Given the description of an element on the screen output the (x, y) to click on. 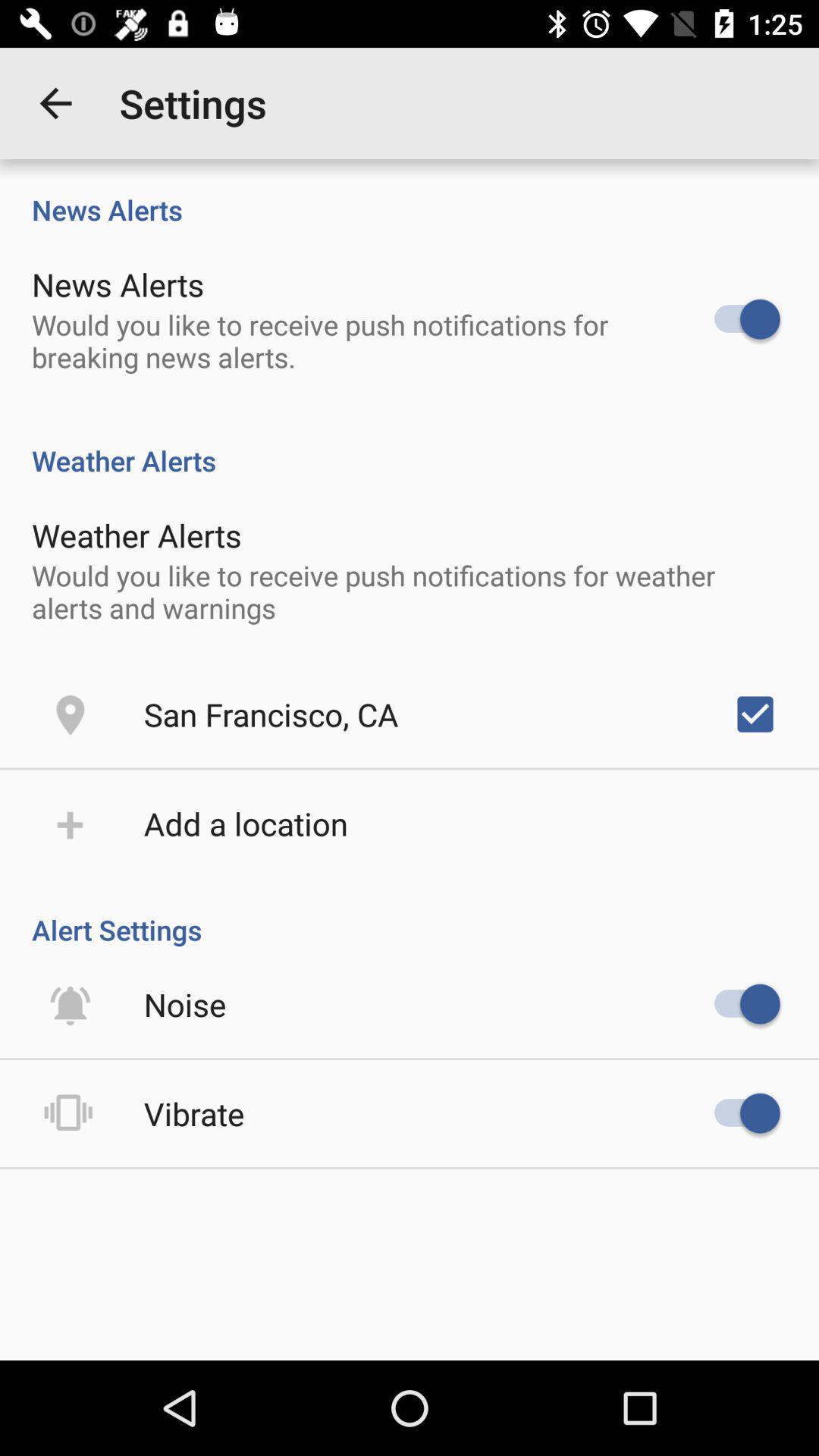
open the icon to the right of the san francisco, ca icon (755, 714)
